Given the description of an element on the screen output the (x, y) to click on. 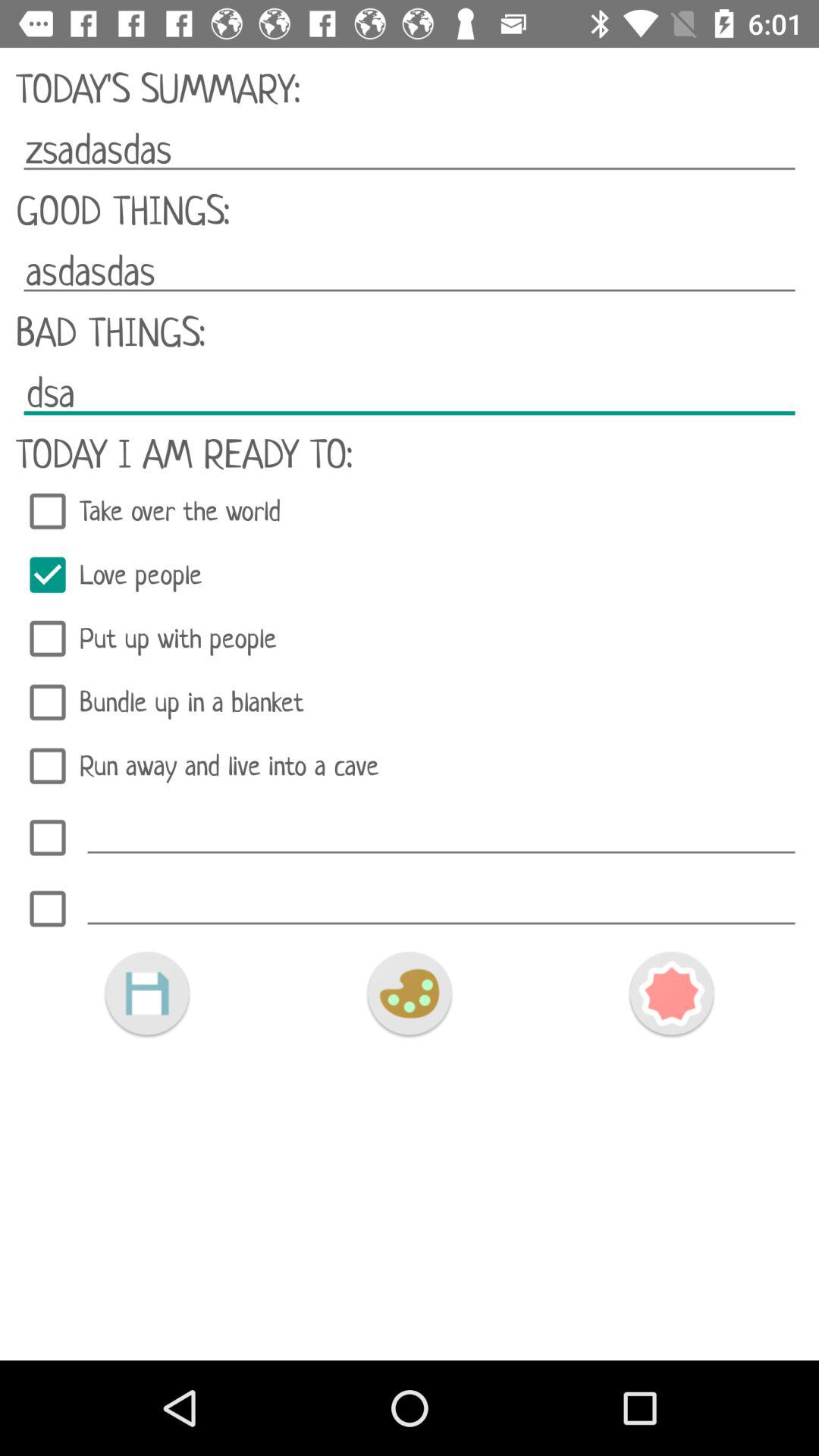
flip to the take over the item (409, 511)
